Given the description of an element on the screen output the (x, y) to click on. 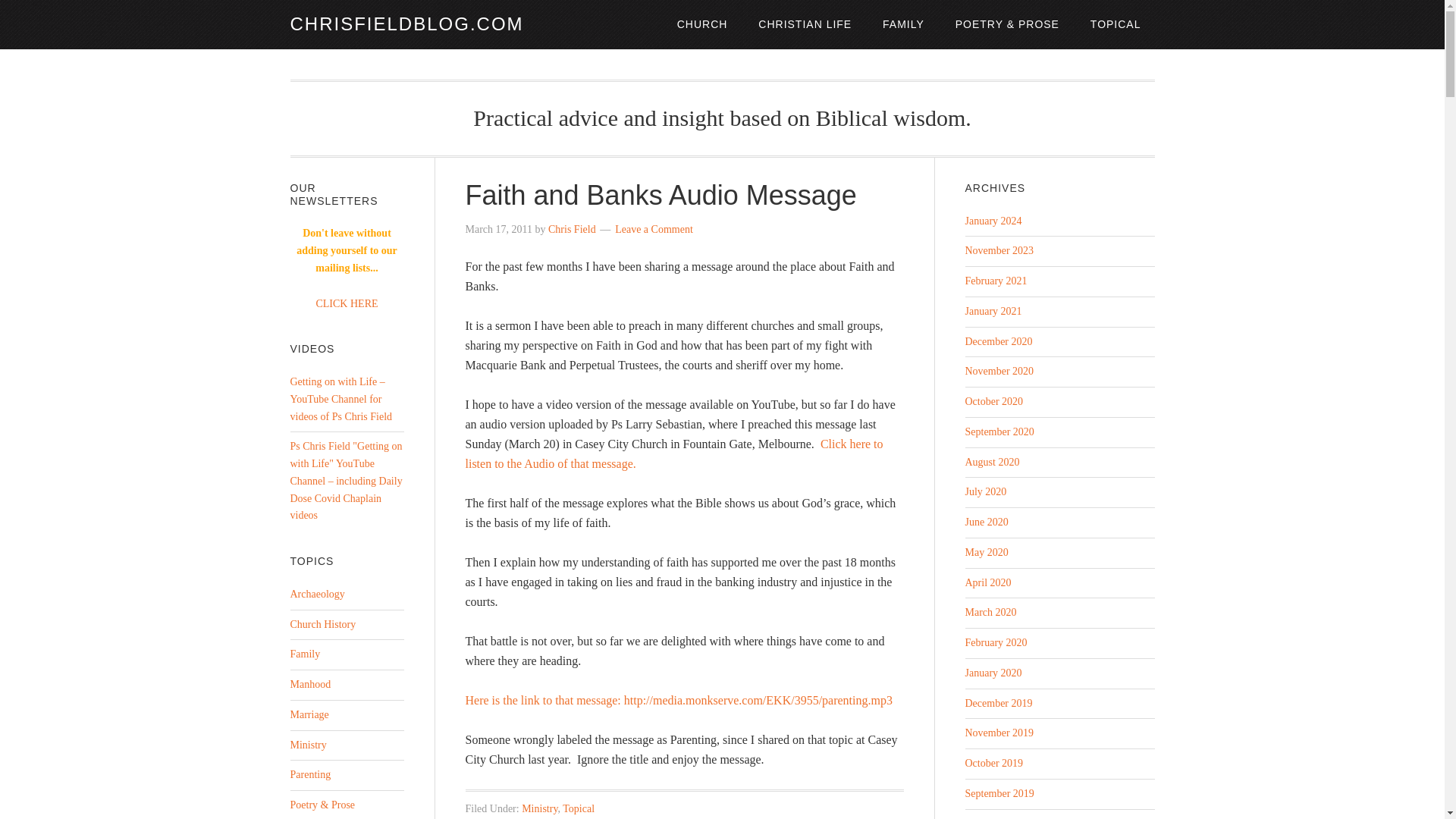
Ministry (539, 808)
Click here to listen to the Audio of that message. (674, 452)
TOPICAL (1115, 24)
Leave a Comment (653, 229)
Chris Field (571, 229)
FAMILY (903, 24)
CHRISFIELDBLOG.COM (405, 23)
